Given the description of an element on the screen output the (x, y) to click on. 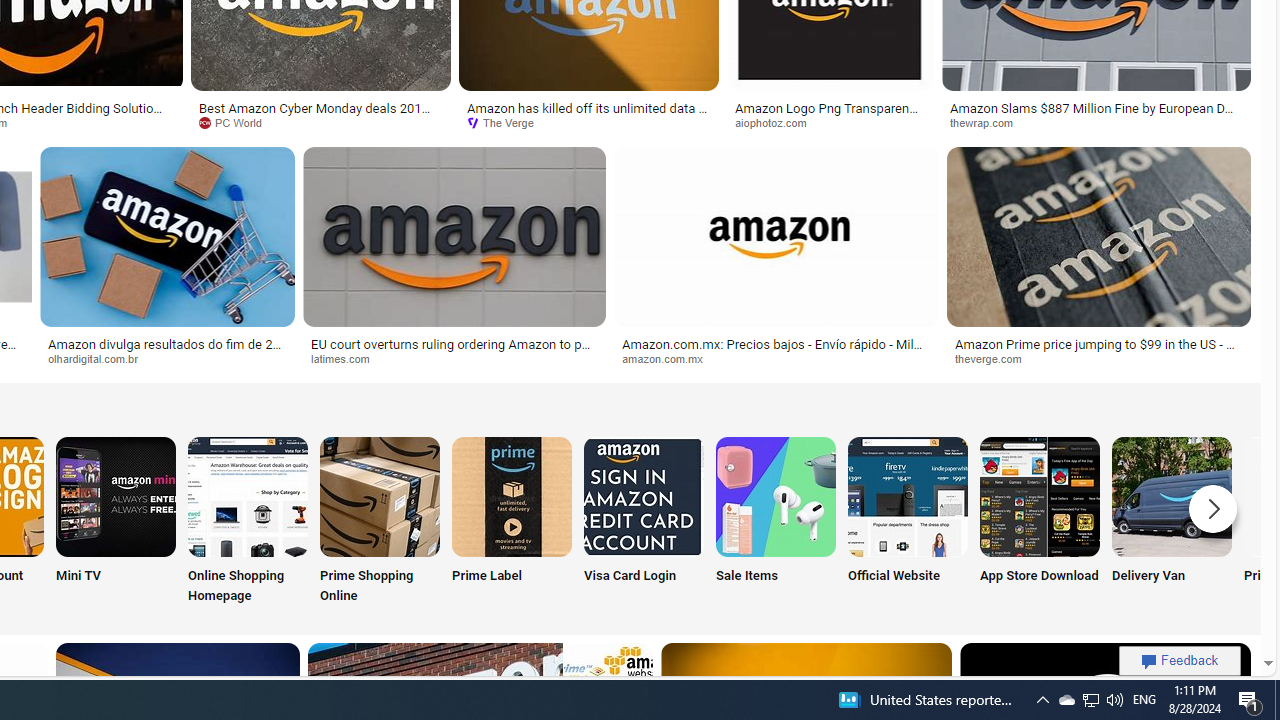
olhardigital.com.br (167, 359)
App Store Download (1039, 521)
Amazon Online Shopping Homepage Online Shopping Homepage (248, 521)
Amazon Online Shopping Homepage (248, 496)
Best Amazon Cyber Monday deals 2019 | PCWorld (320, 114)
Prime Shopping Online (380, 521)
The Verge (588, 123)
Amazon Official Website (907, 496)
Image result for amazon (1098, 236)
